Given the description of an element on the screen output the (x, y) to click on. 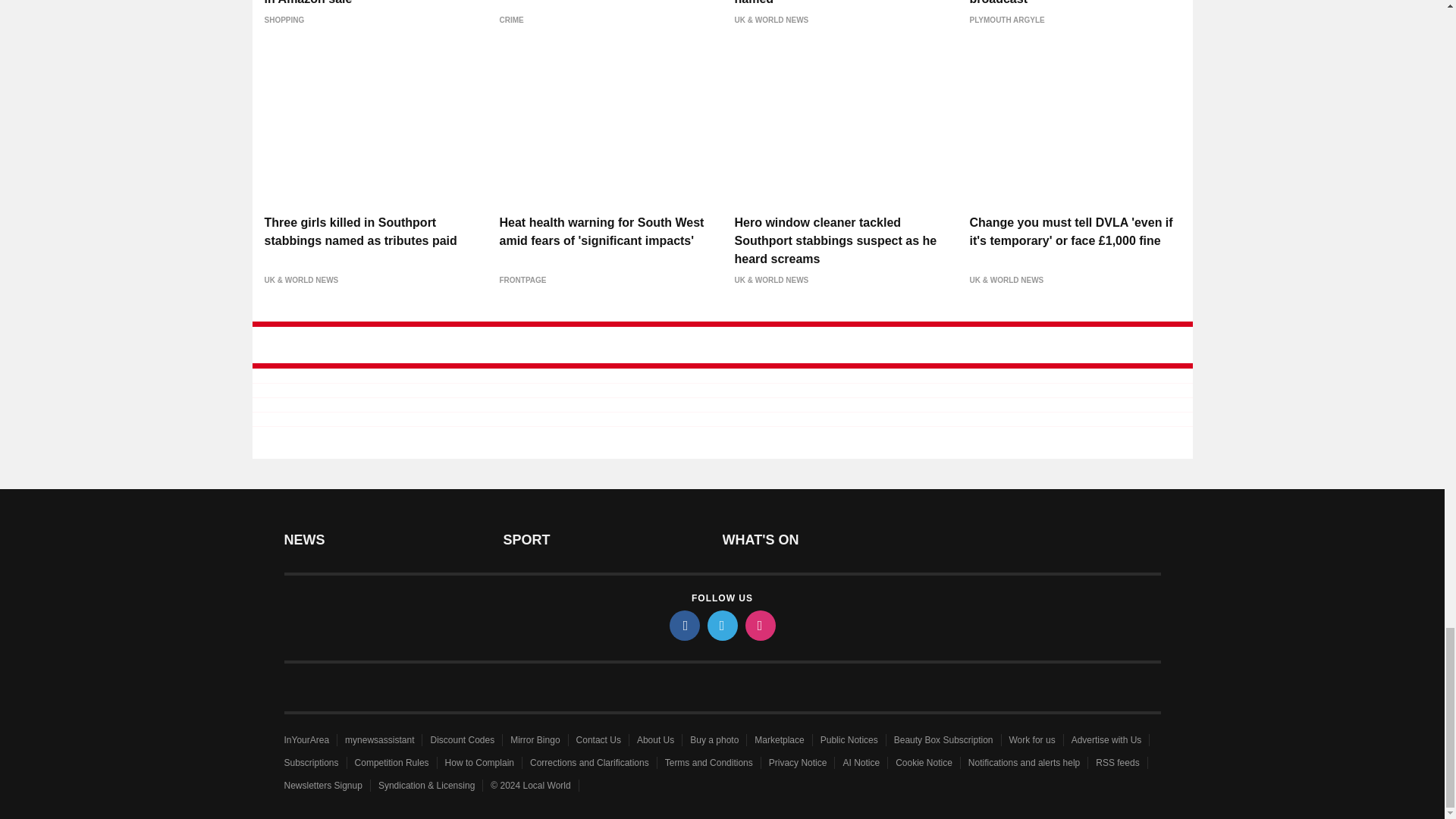
facebook (683, 625)
twitter (721, 625)
instagram (759, 625)
